Given the description of an element on the screen output the (x, y) to click on. 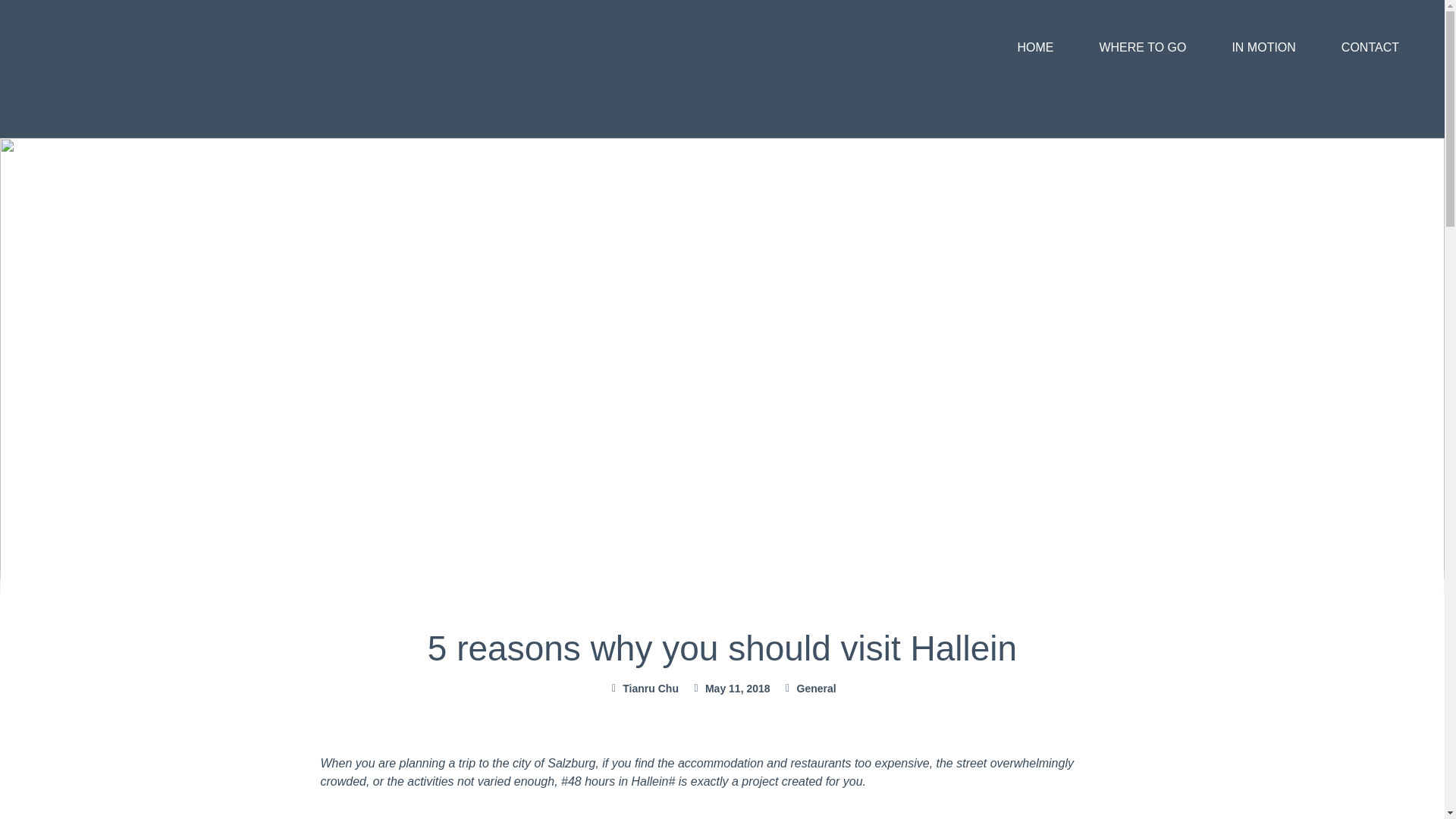
WHERE TO GO (1142, 47)
CONTACT (1369, 47)
HOME (1034, 47)
IN MOTION (1262, 47)
